Given the description of an element on the screen output the (x, y) to click on. 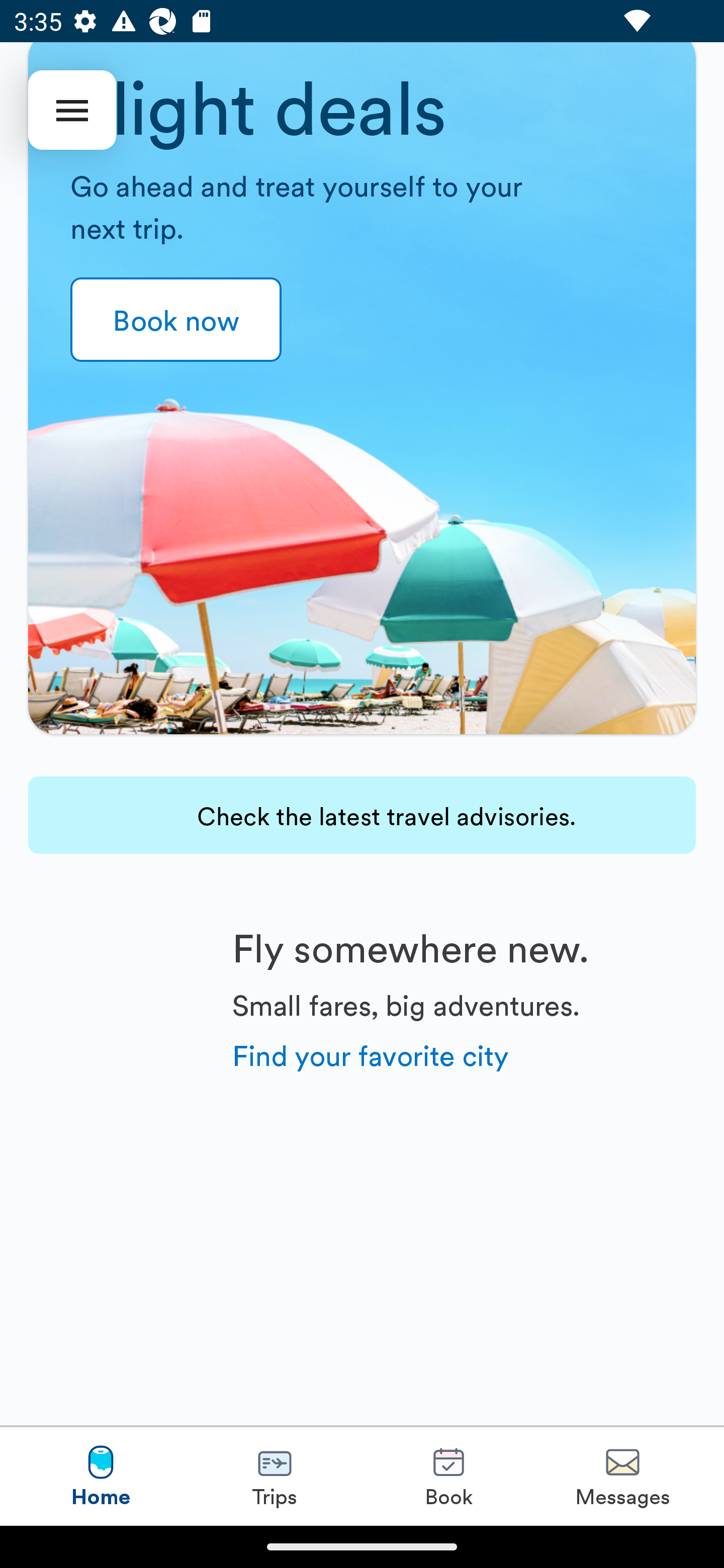
Book now (175, 319)
Check the latest travel advisories. (361, 815)
Find your favorite city (370, 1054)
Home (100, 1475)
Trips (275, 1475)
Book (448, 1475)
Messages (622, 1475)
